Given the description of an element on the screen output the (x, y) to click on. 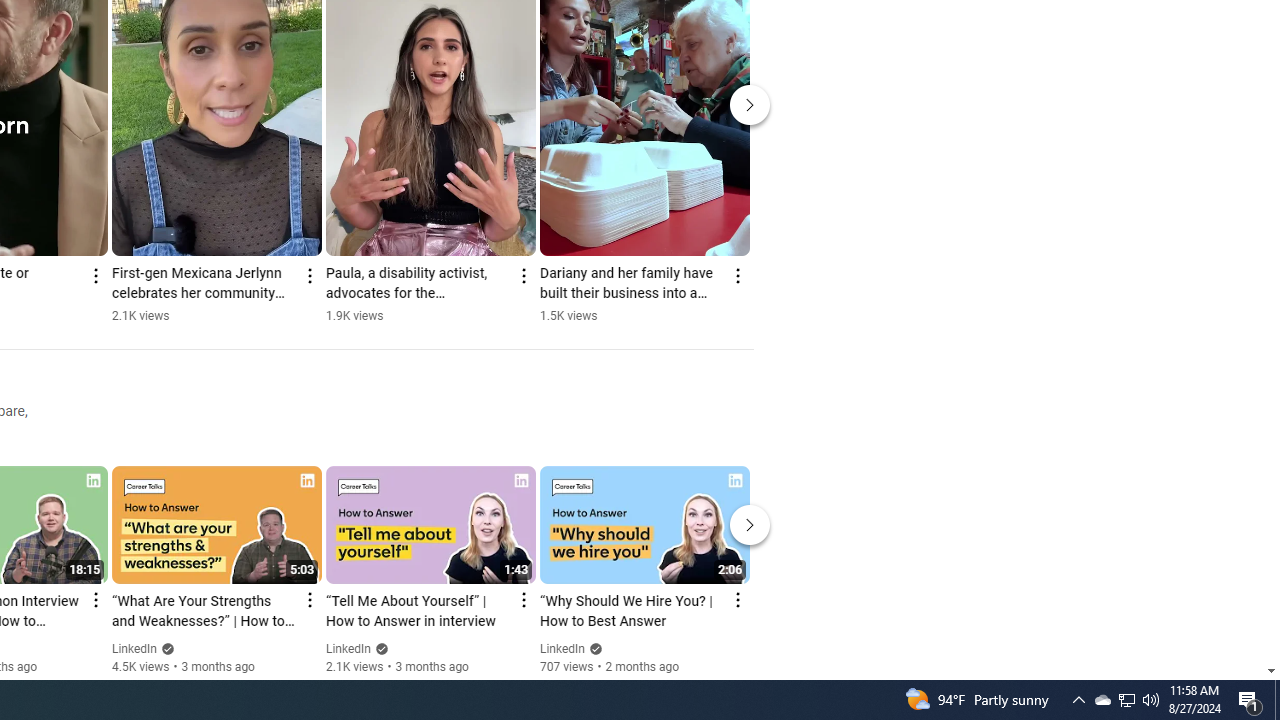
More actions (736, 276)
LinkedIn (562, 649)
Verified (592, 647)
